Given the description of an element on the screen output the (x, y) to click on. 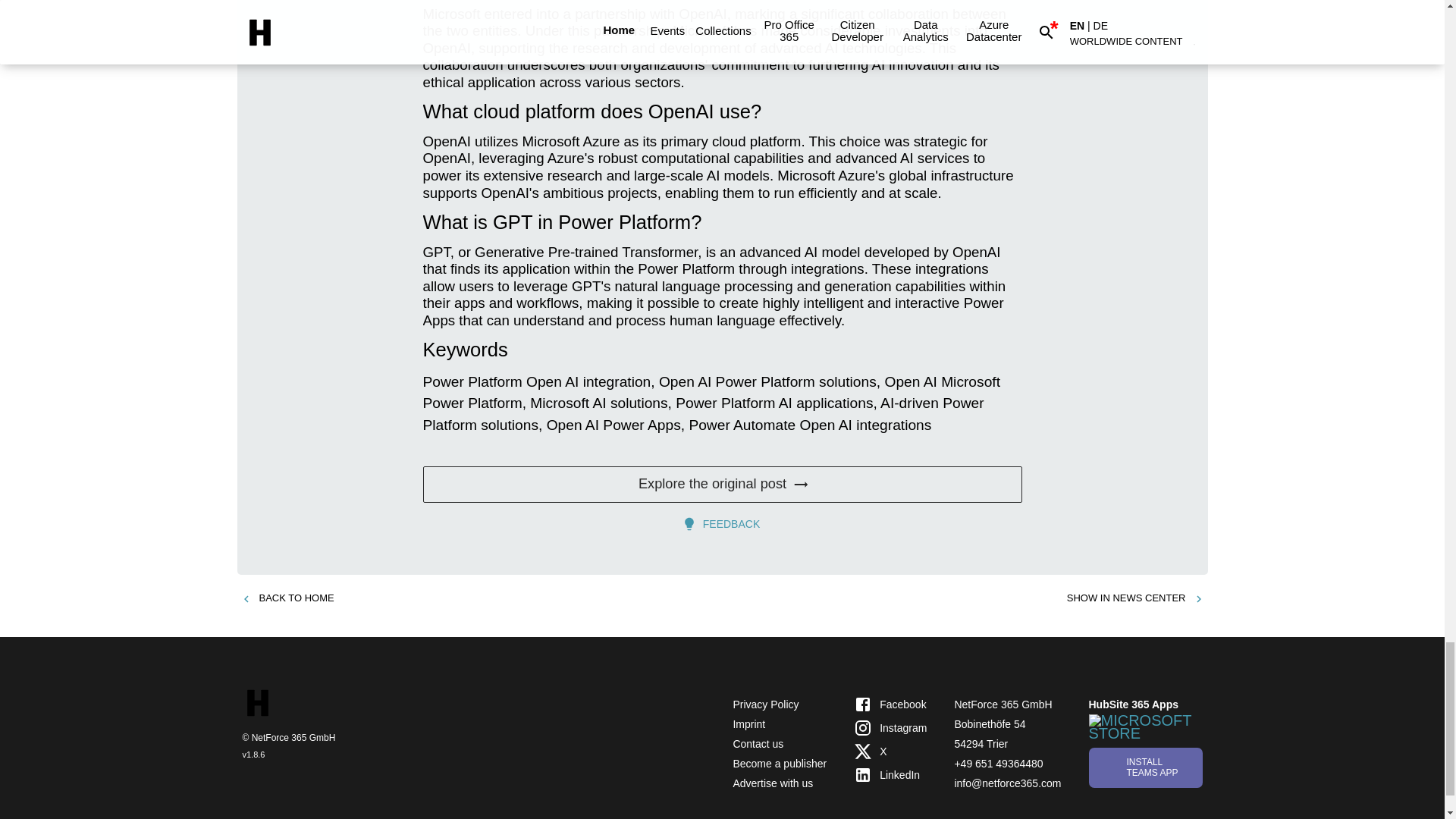
FEEDBACK (721, 524)
Install app (1145, 767)
LinkedIn (889, 774)
Become a publisher (779, 763)
Instagram (889, 727)
SHOW IN NEWS CENTER (1135, 598)
Privacy Policy (764, 704)
NetForce 365 GmbH (1002, 704)
Explore the original post (722, 484)
Advertise with us (772, 783)
